Given the description of an element on the screen output the (x, y) to click on. 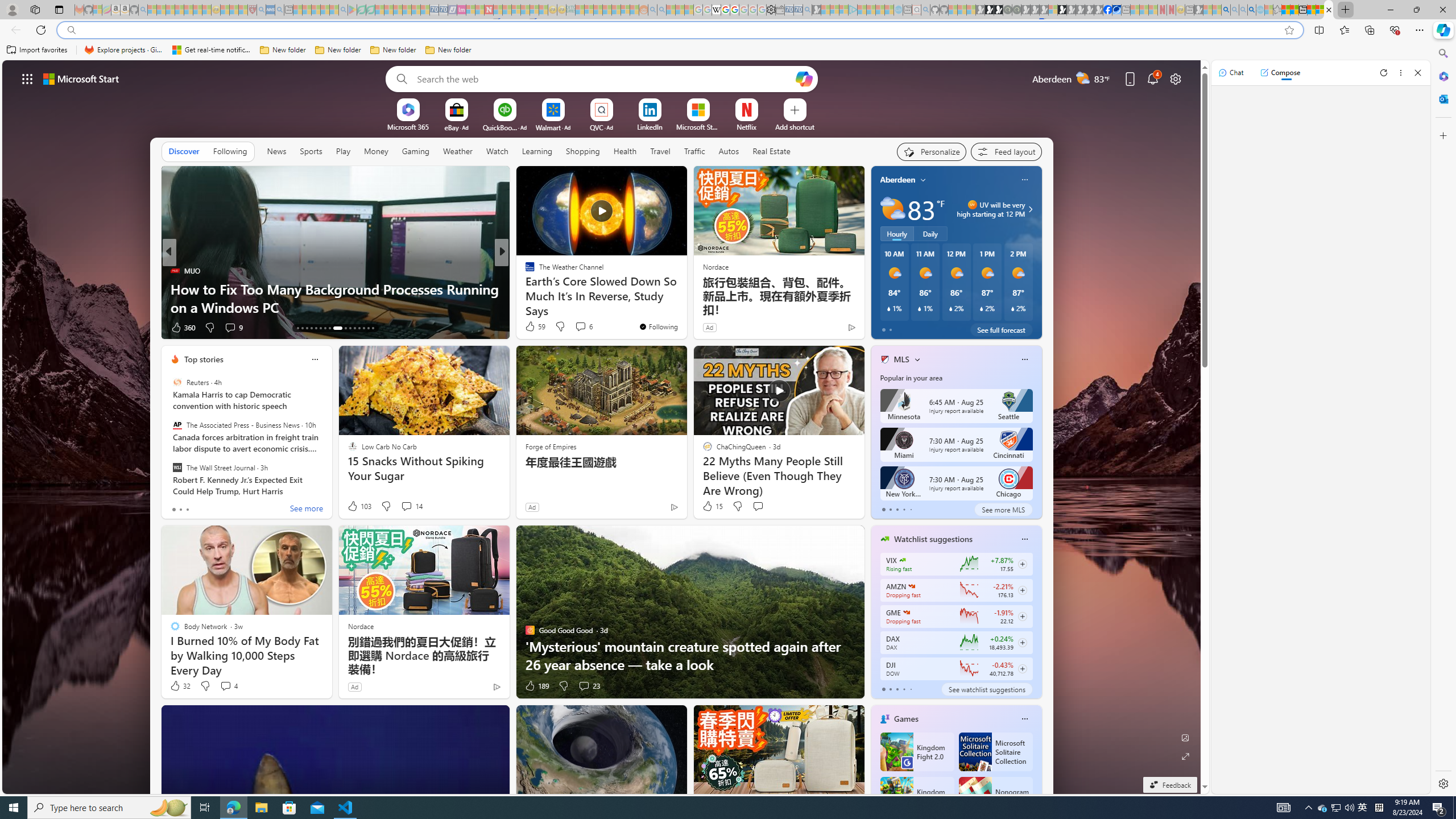
New folder (448, 49)
Health (624, 151)
View comments 14 Comment (411, 505)
Terms of Use Agreement - Sleeping (361, 9)
Money (376, 151)
